Given the description of an element on the screen output the (x, y) to click on. 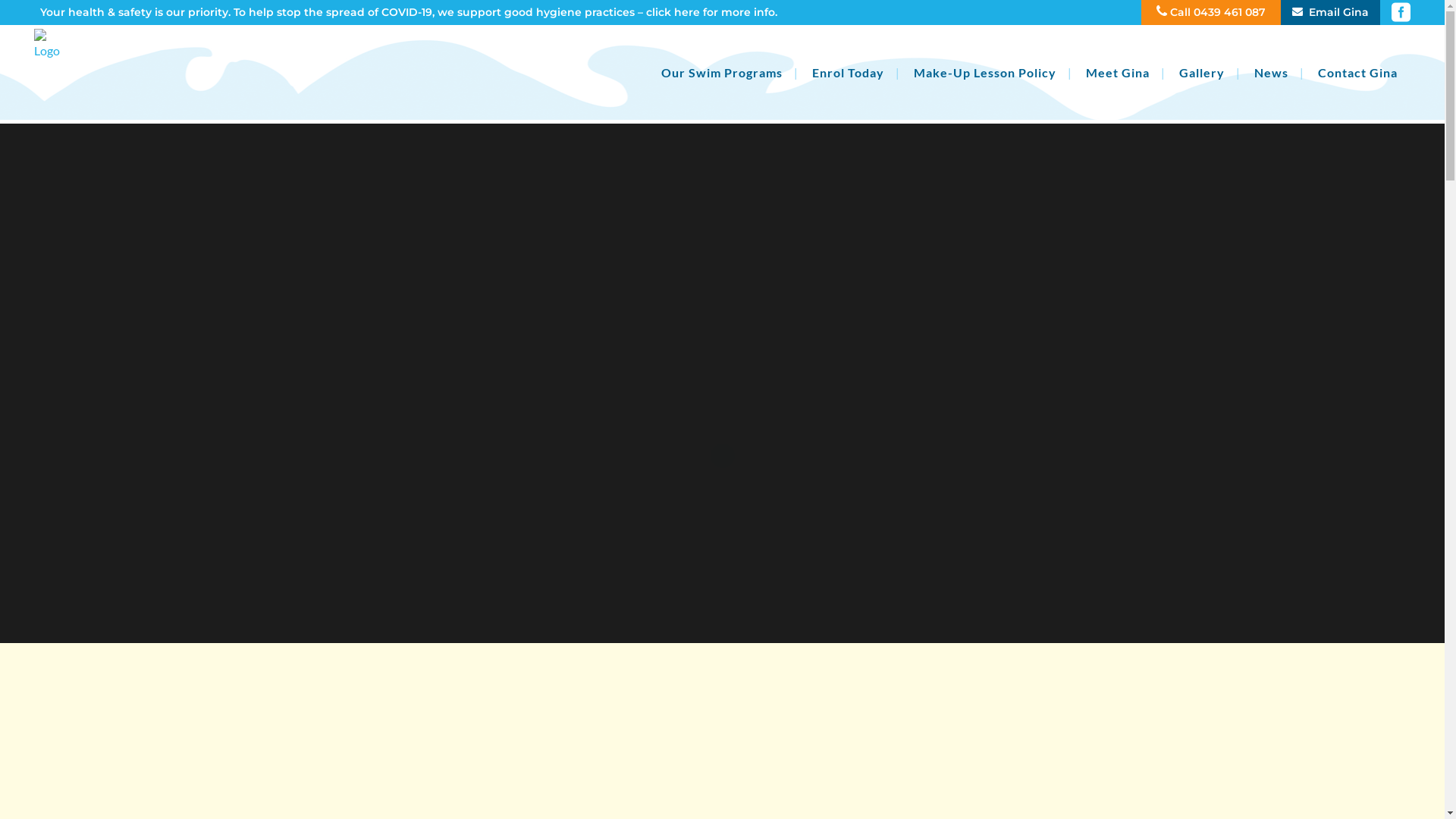
Gallery Element type: text (1201, 72)
click here for more info. Element type: text (711, 11)
Make-Up Lesson Policy Element type: text (984, 72)
Call 0439 461 087 Element type: text (1217, 11)
Our Swim Programs Element type: text (721, 72)
Email Gina Element type: text (1324, 12)
Enrol Today Element type: text (848, 72)
Contact Gina Element type: text (1357, 72)
News Element type: text (1271, 72)
Meet Gina Element type: text (1117, 72)
